Given the description of an element on the screen output the (x, y) to click on. 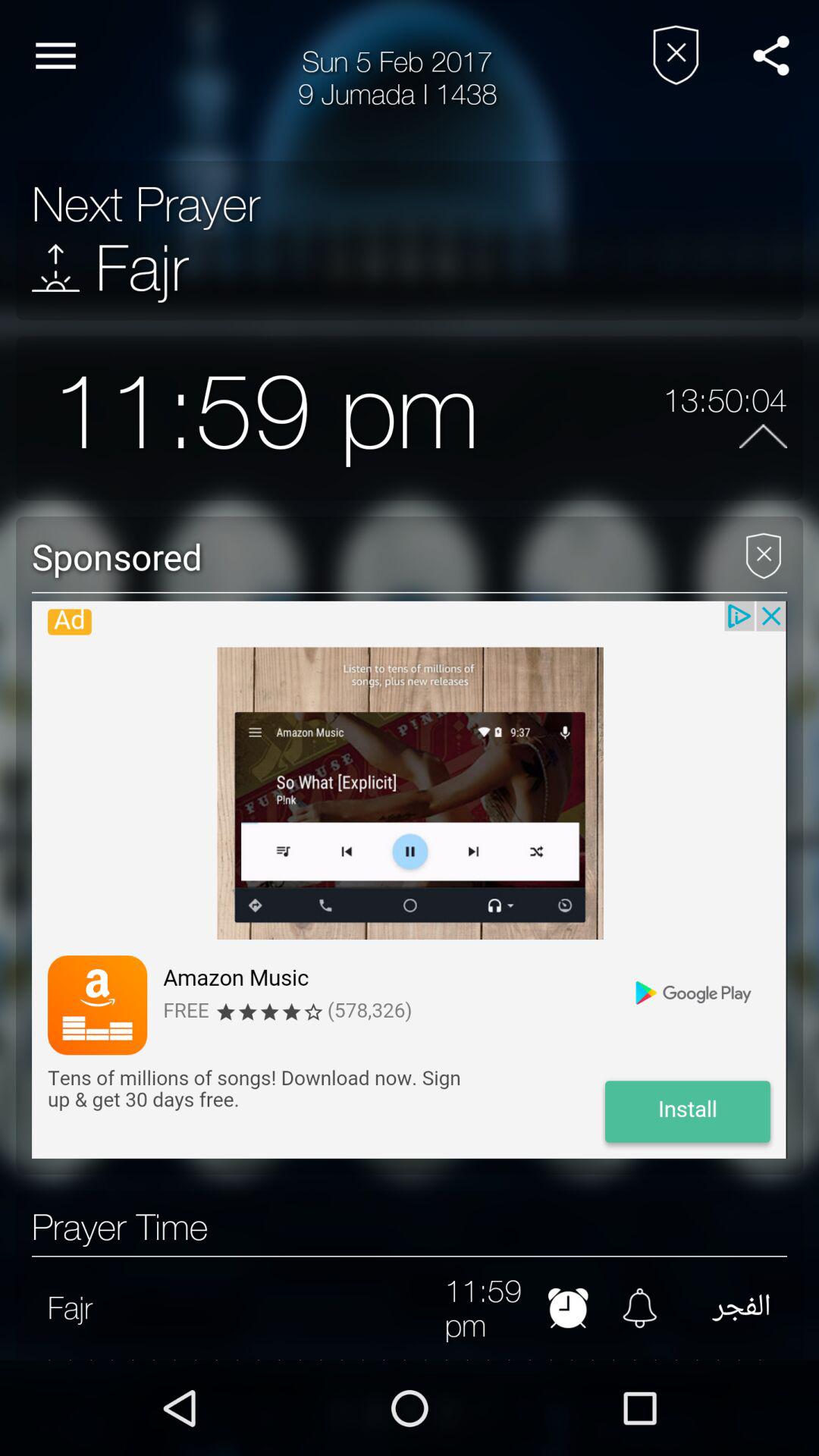
close advertisement (763, 550)
